Given the description of an element on the screen output the (x, y) to click on. 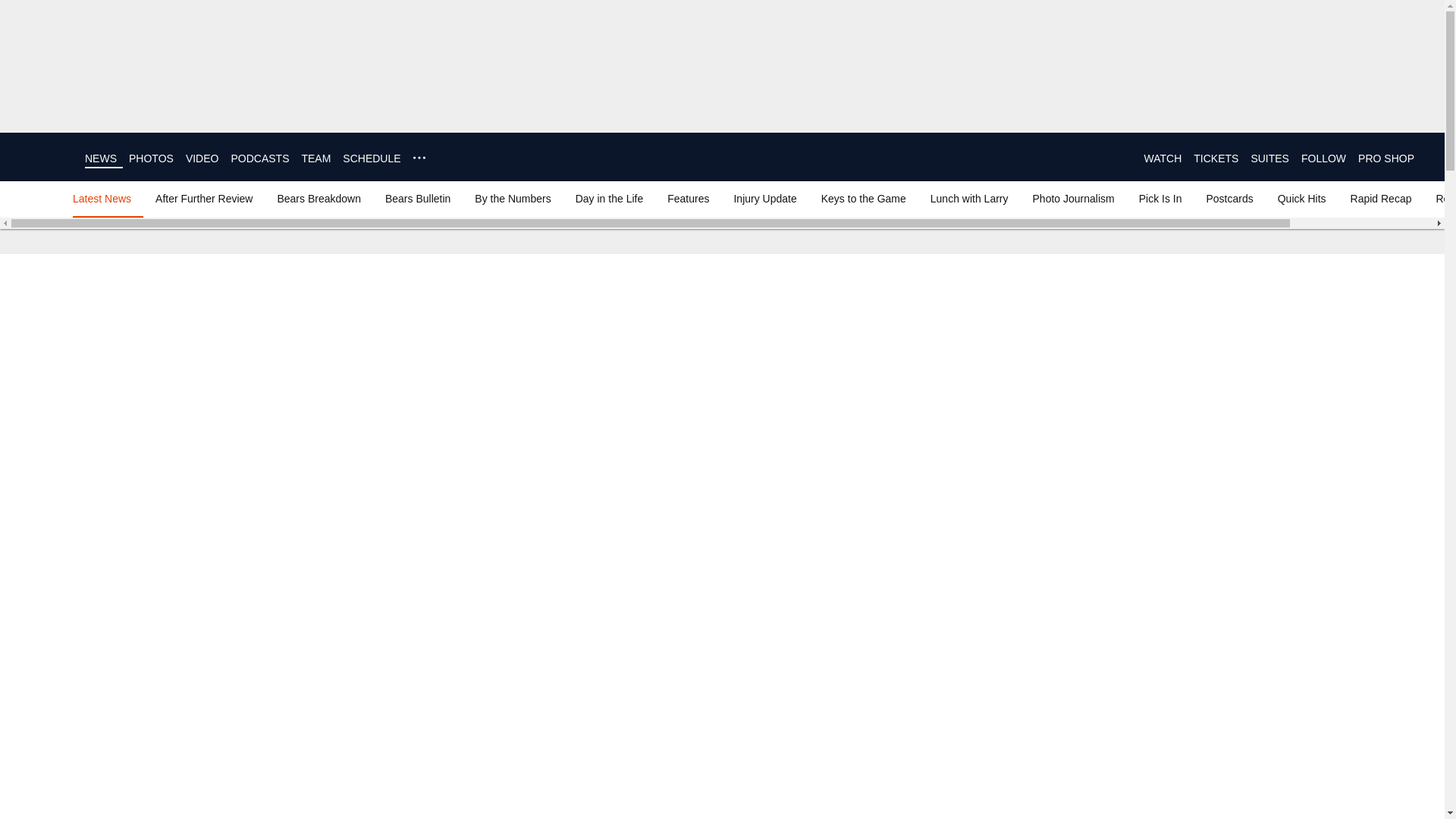
Latest News (104, 198)
Lunch with Larry (969, 198)
PHOTOS (151, 158)
By the Numbers (512, 198)
Quick Hits (1301, 198)
After Further Review (204, 198)
Rapid Recap (1380, 198)
PRO SHOP (1385, 158)
Bears Bulletin (417, 198)
SUITES (1269, 158)
